Given the description of an element on the screen output the (x, y) to click on. 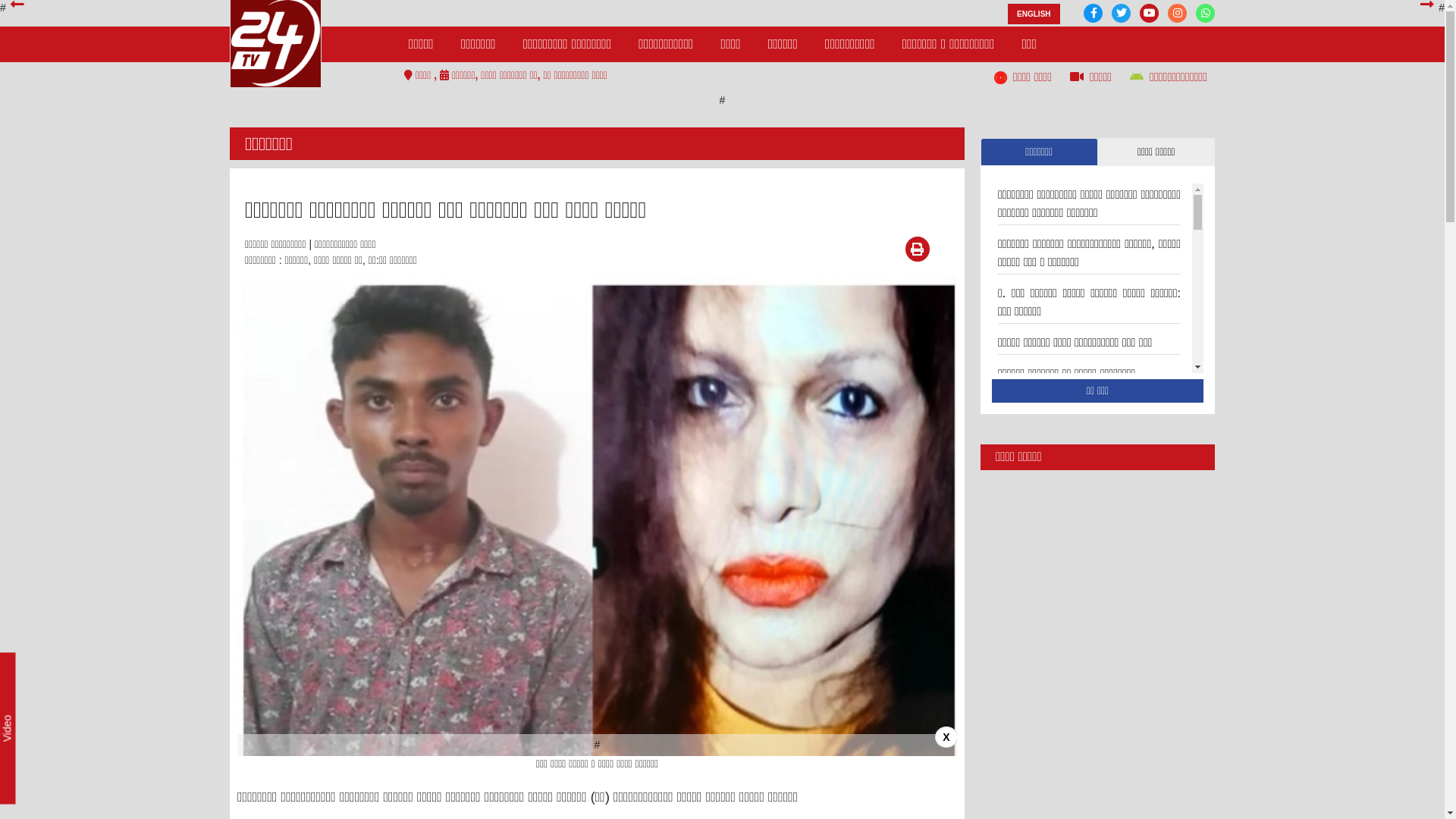
ENGLISH Element type: text (1033, 13)
Advertisement Element type: hover (1097, 543)
X Element type: text (946, 736)
